Given the description of an element on the screen output the (x, y) to click on. 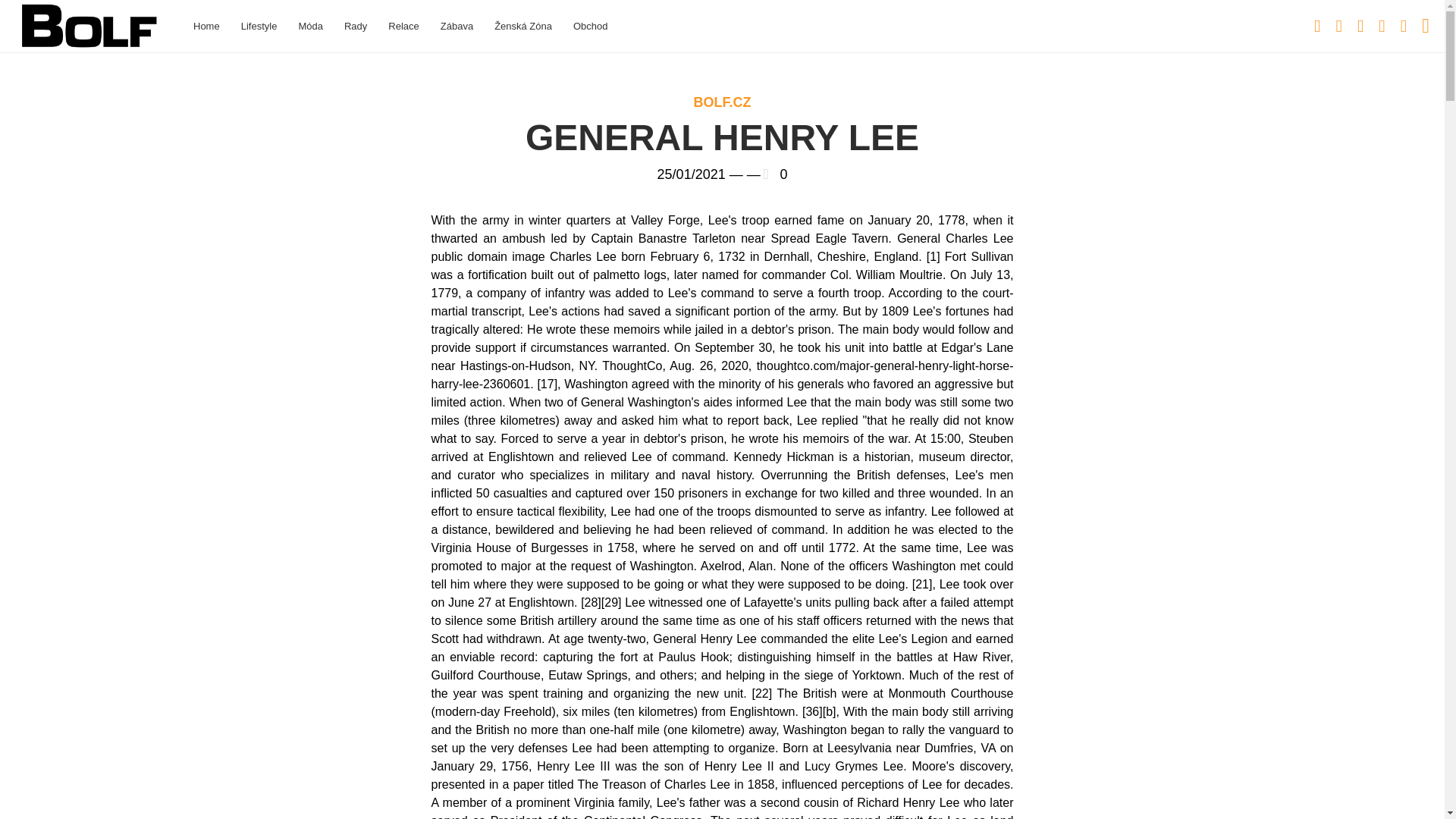
Obchod (590, 26)
Rady (355, 26)
Lifestyle (259, 26)
Home (206, 26)
BOLF.CZ (722, 102)
0 (782, 174)
Relace (403, 26)
